Given the description of an element on the screen output the (x, y) to click on. 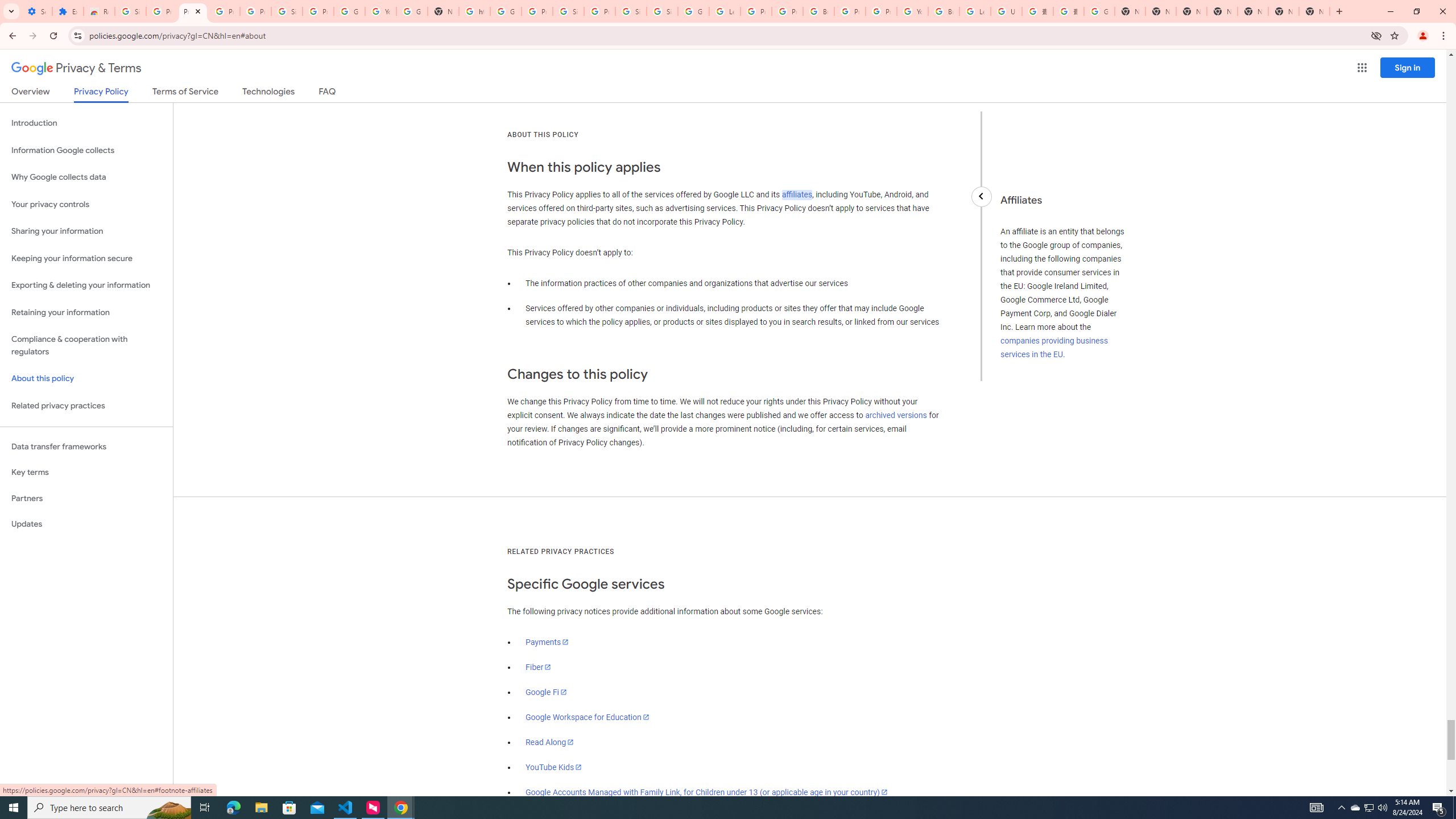
Keeping your information secure (86, 258)
Sharing your information (86, 230)
Google Workspace for Education (587, 716)
companies providing business services in the EU (1054, 347)
Exporting & deleting your information (86, 284)
Google Images (1098, 11)
https://scholar.google.com/ (474, 11)
